Given the description of an element on the screen output the (x, y) to click on. 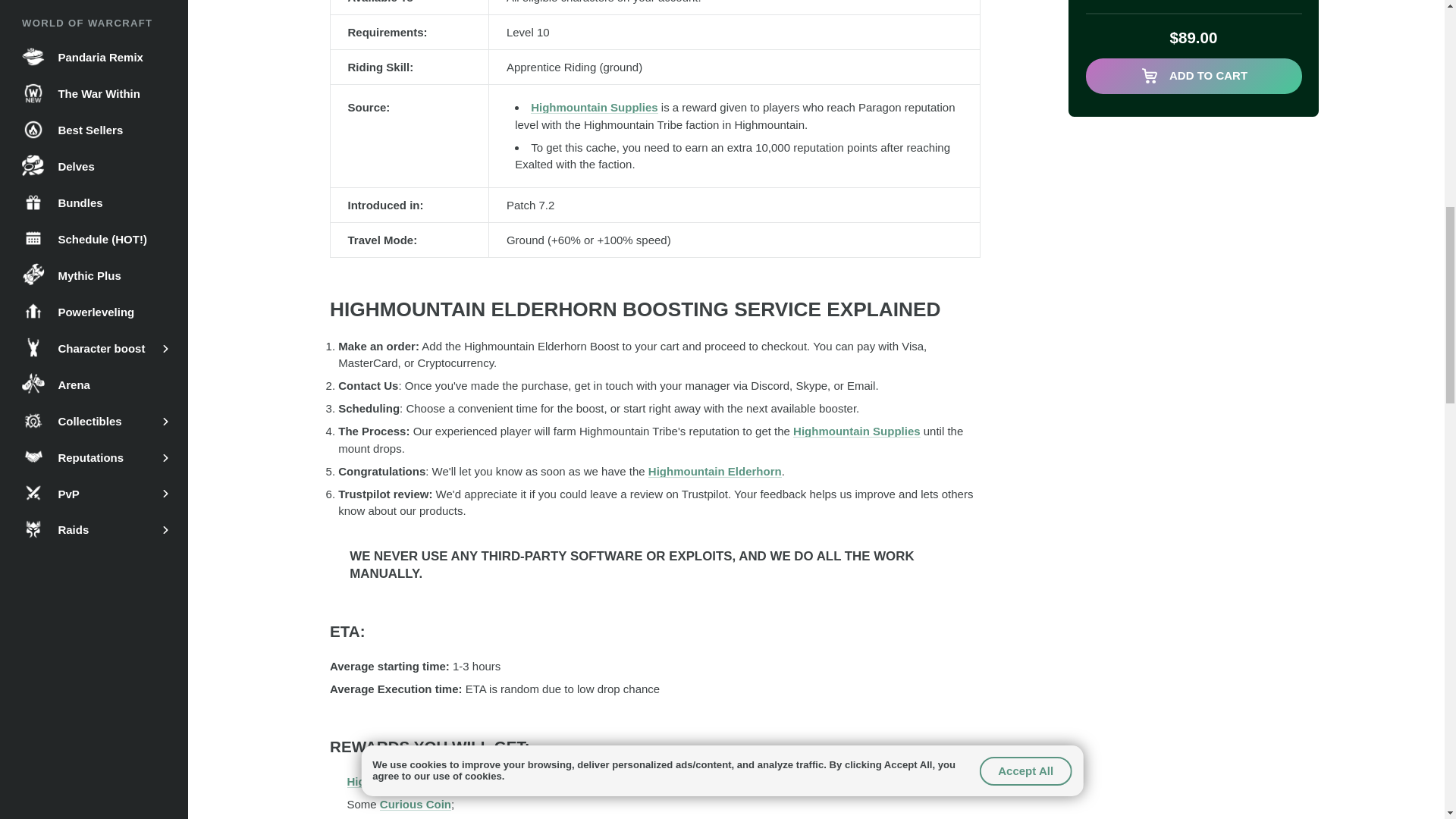
Highmountain Supplies (856, 431)
Highmountain Elderhorn (413, 780)
Curious Coin (415, 803)
ADD TO CART (1193, 76)
Highmountain Supplies (594, 106)
Highmountain Elderhorn (714, 471)
